Given the description of an element on the screen output the (x, y) to click on. 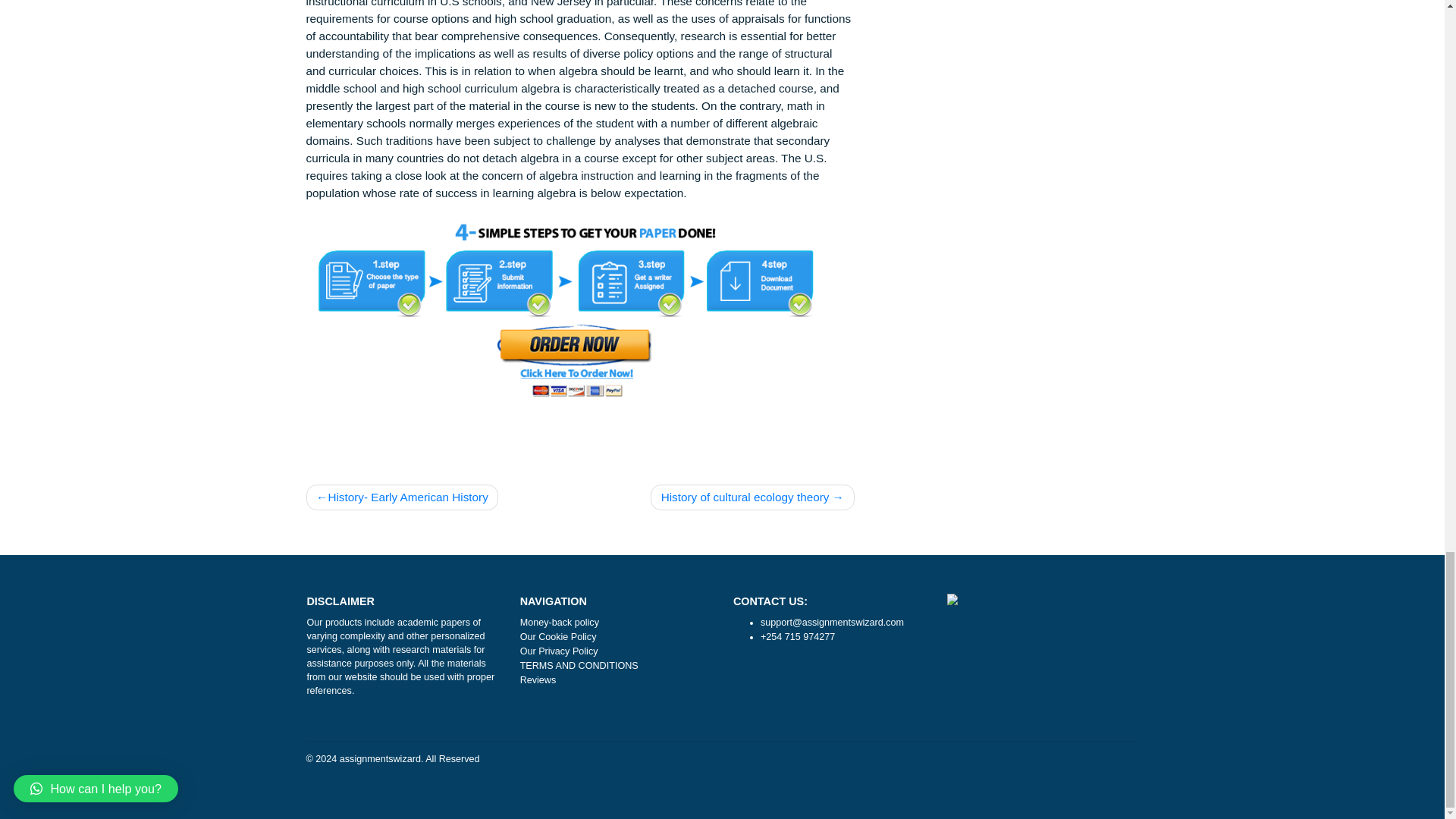
History- Early American History (446, 745)
History of cultural ecology theory (835, 745)
